Given the description of an element on the screen output the (x, y) to click on. 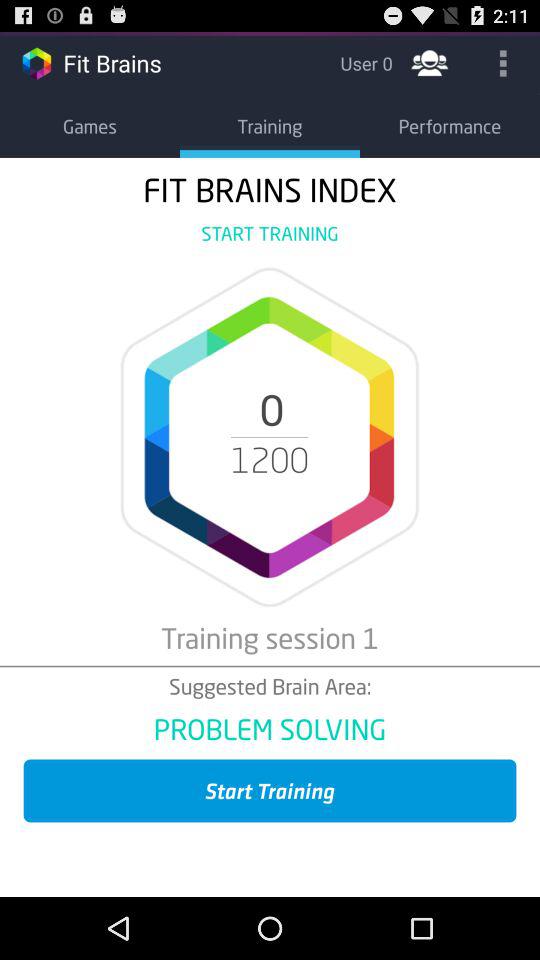
select the item next to user 0 icon (429, 62)
